Given the description of an element on the screen output the (x, y) to click on. 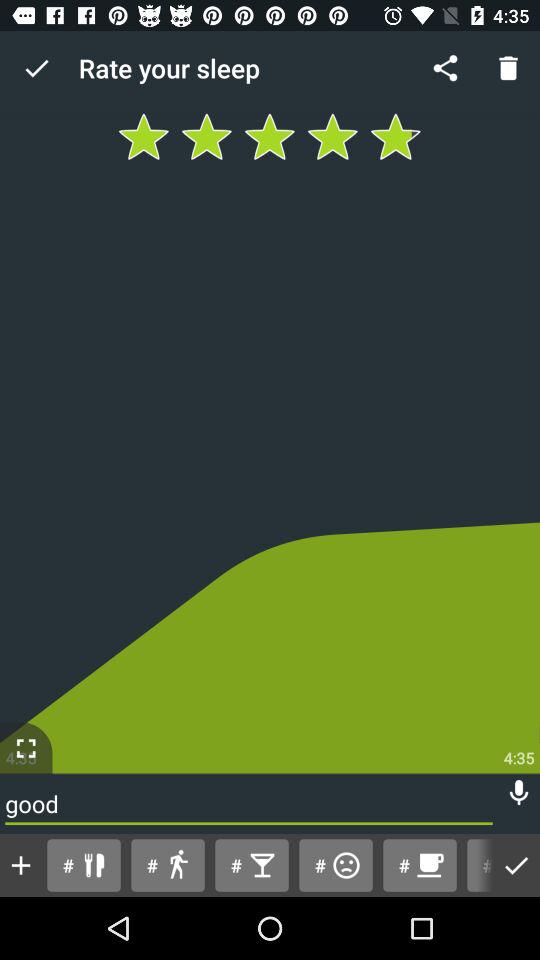
open the button to the right of # icon (168, 864)
